Given the description of an element on the screen output the (x, y) to click on. 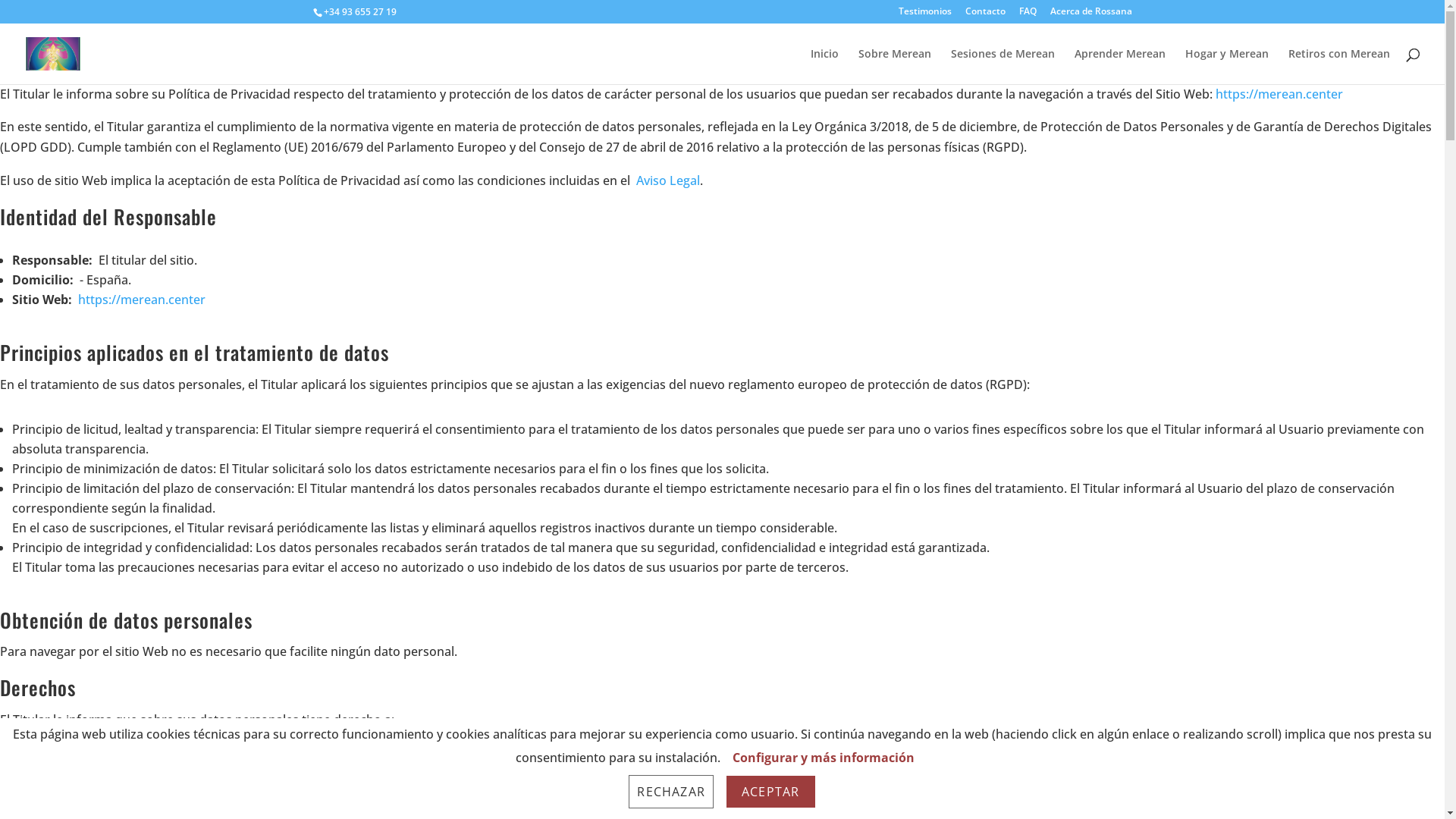
Hogar y Merean Element type: text (1226, 66)
Contacto Element type: text (984, 14)
Sesiones de Merean Element type: text (1002, 66)
Acerca de Rossana Element type: text (1090, 14)
ACEPTAR Element type: text (770, 791)
RECHAZAR Element type: text (670, 791)
https://merean.center Element type: text (1279, 93)
Testimonios Element type: text (923, 14)
Aprender Merean Element type: text (1119, 66)
Aviso Legal Element type: text (667, 180)
https://merean.center Element type: text (141, 299)
Retiros con Merean Element type: text (1339, 66)
Inicio Element type: text (824, 66)
FAQ Element type: text (1027, 14)
Sobre Merean Element type: text (894, 66)
